Given the description of an element on the screen output the (x, y) to click on. 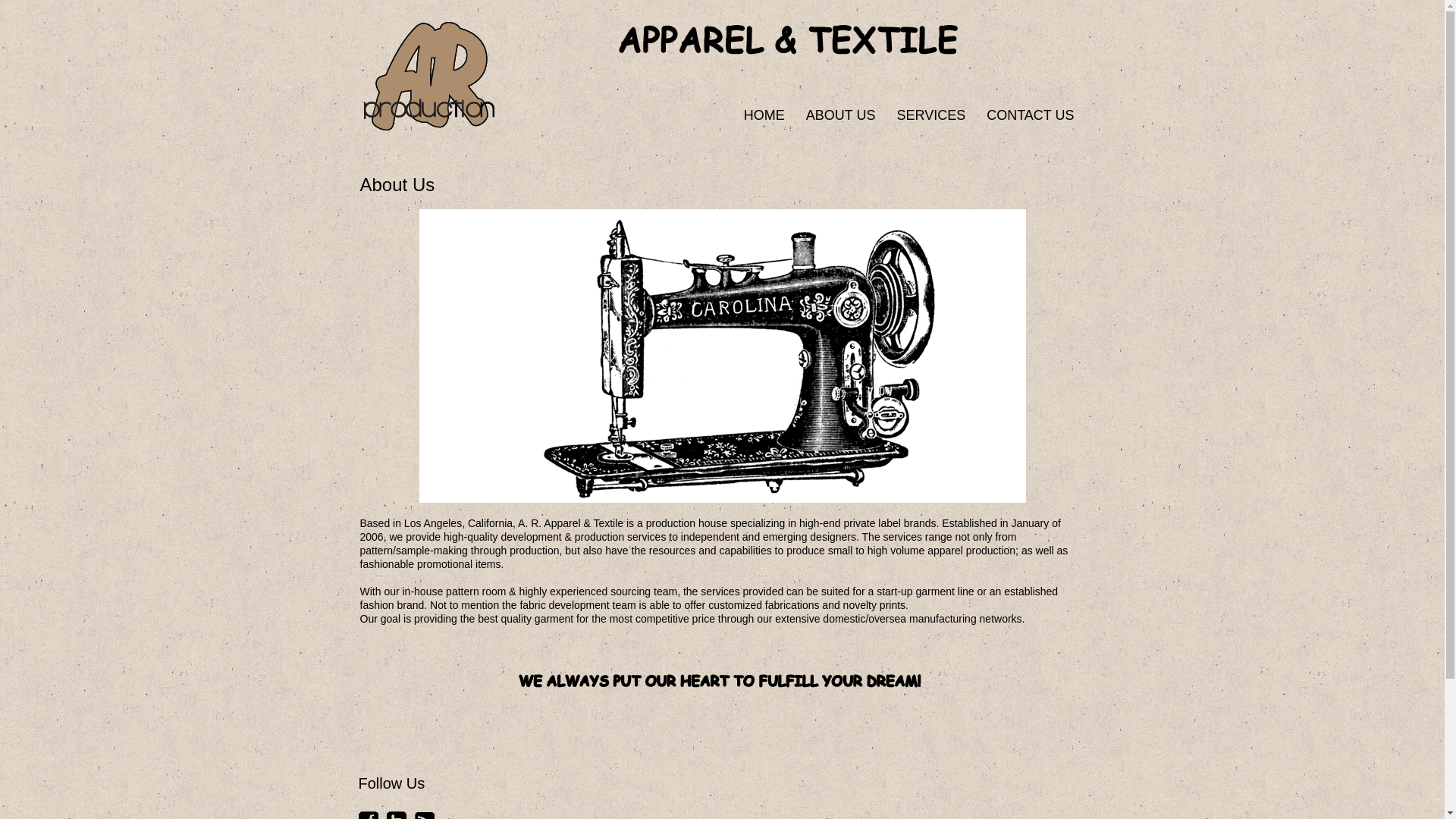
ABOUT US (840, 116)
SERVICES (930, 116)
HOME (763, 116)
CONTACT US (1029, 116)
